Given the description of an element on the screen output the (x, y) to click on. 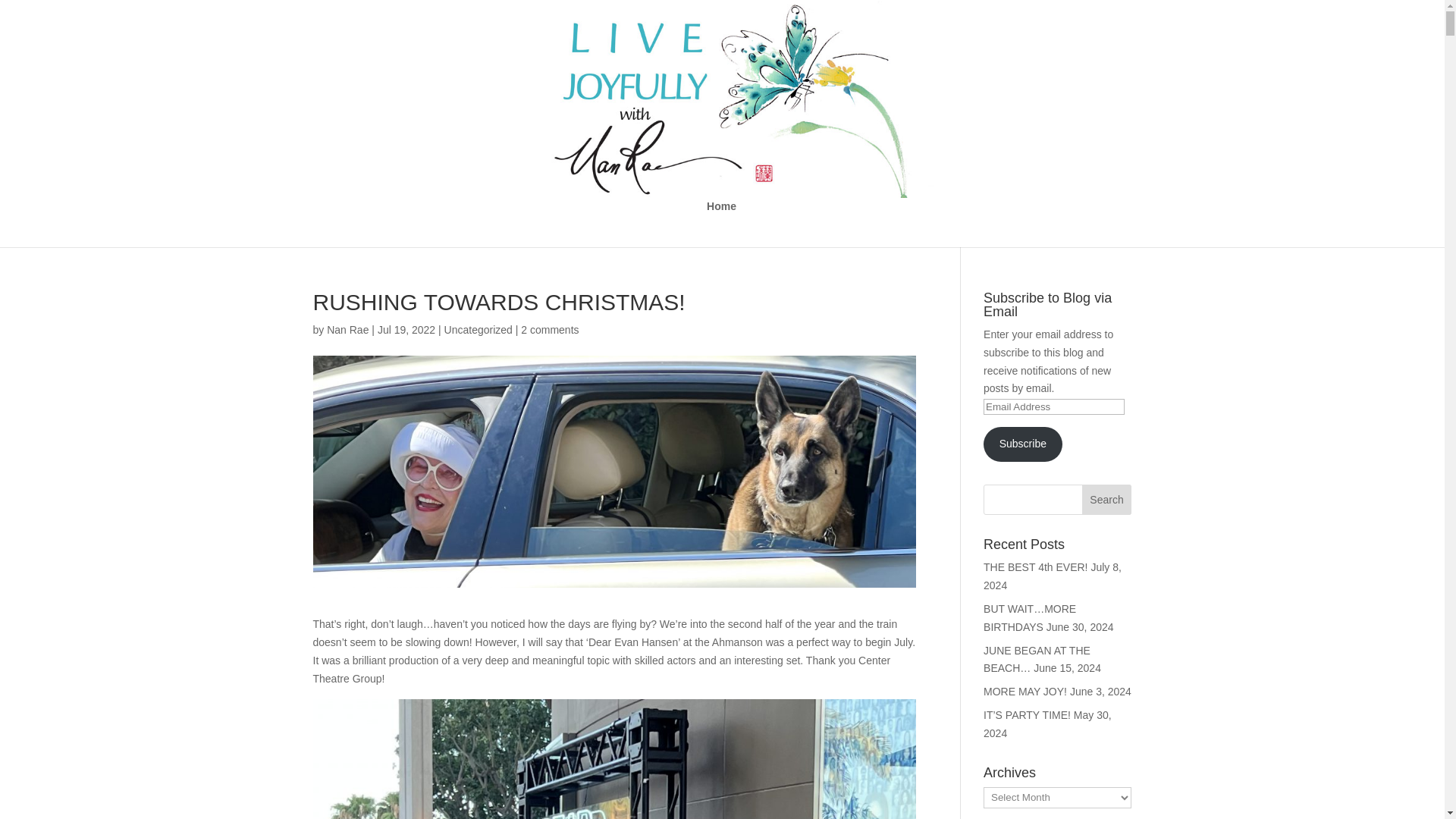
Search (1106, 499)
Subscribe (1023, 443)
Nan Rae (347, 329)
Posts by Nan Rae (347, 329)
2 comments (549, 329)
Search (1106, 499)
Home (721, 223)
THE BEST 4th EVER! (1035, 567)
Uncategorized (478, 329)
MORE MAY JOY! (1025, 691)
